Given the description of an element on the screen output the (x, y) to click on. 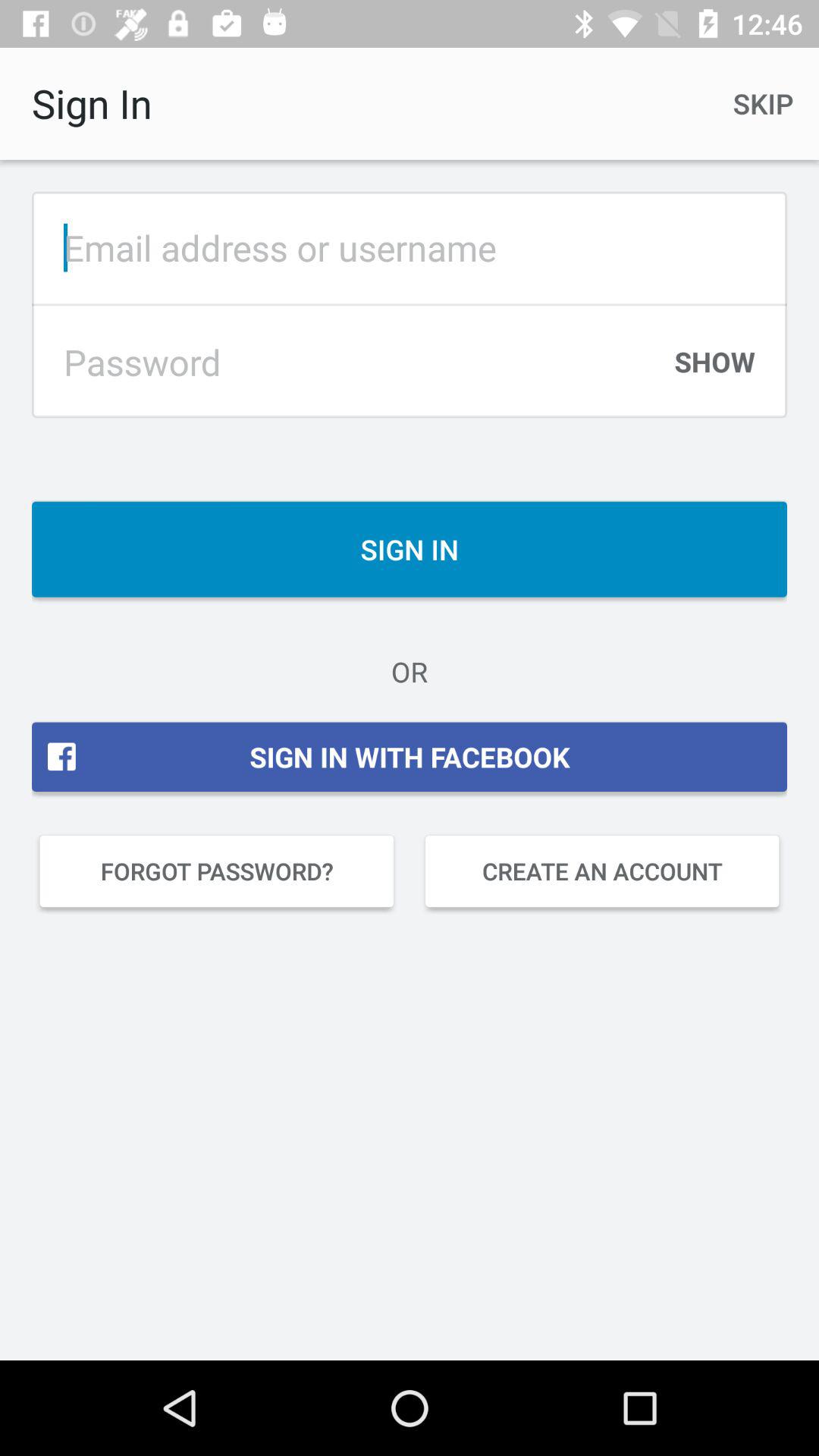
turn off the create an account item (602, 871)
